Given the description of an element on the screen output the (x, y) to click on. 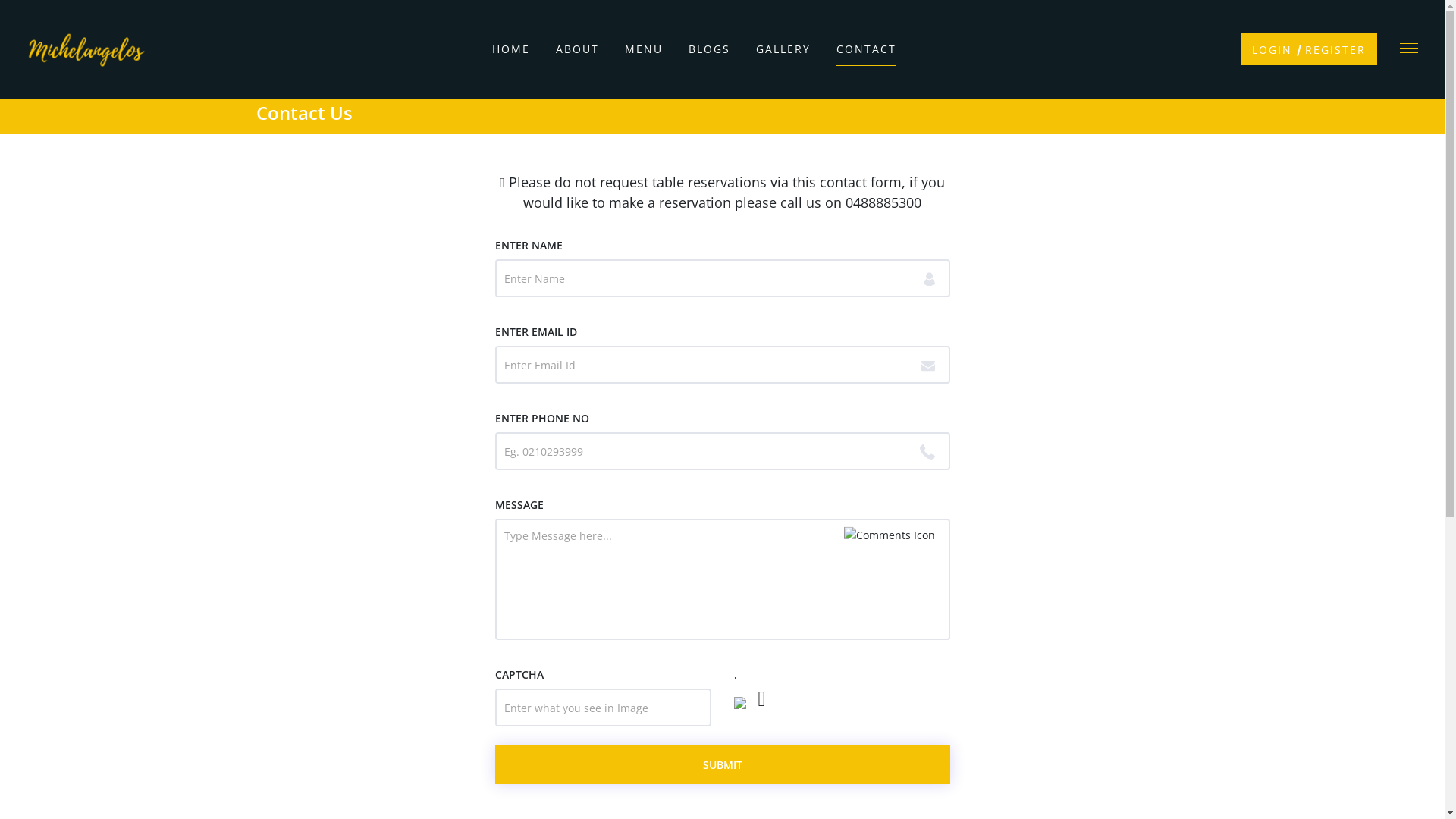
HOME Element type: text (511, 48)
REGISTER Element type: text (1335, 49)
ABOUT Element type: text (577, 48)
BLOGS Element type: text (709, 48)
LOGIN Element type: text (1272, 49)
MENU Element type: text (643, 48)
SUBMIT Element type: text (721, 764)
0488885300 Element type: text (883, 202)
CONTACT Element type: text (866, 48)
GALLERY Element type: text (783, 48)
